Given the description of an element on the screen output the (x, y) to click on. 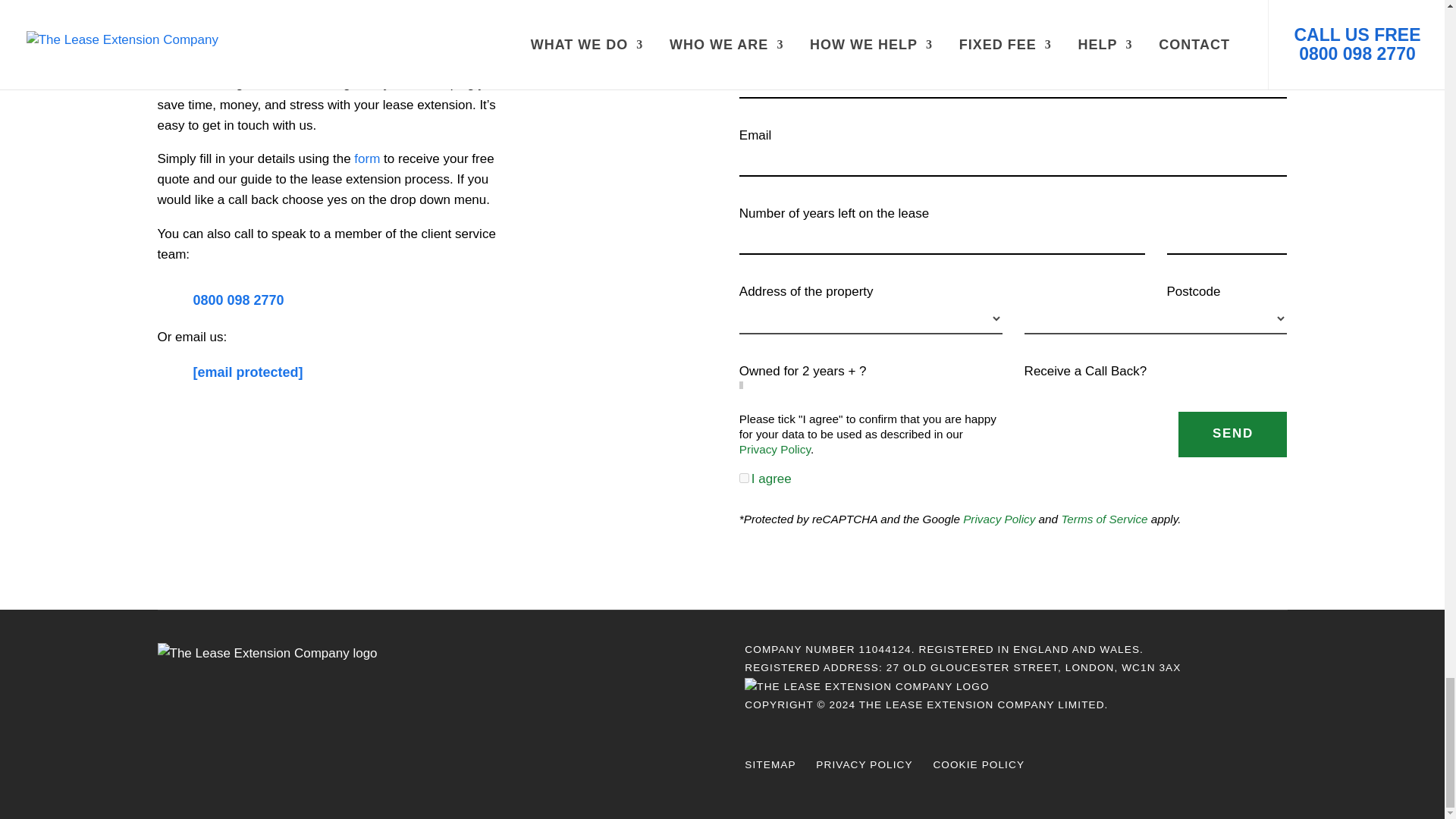
I agree (744, 478)
Send (1232, 434)
